Given the description of an element on the screen output the (x, y) to click on. 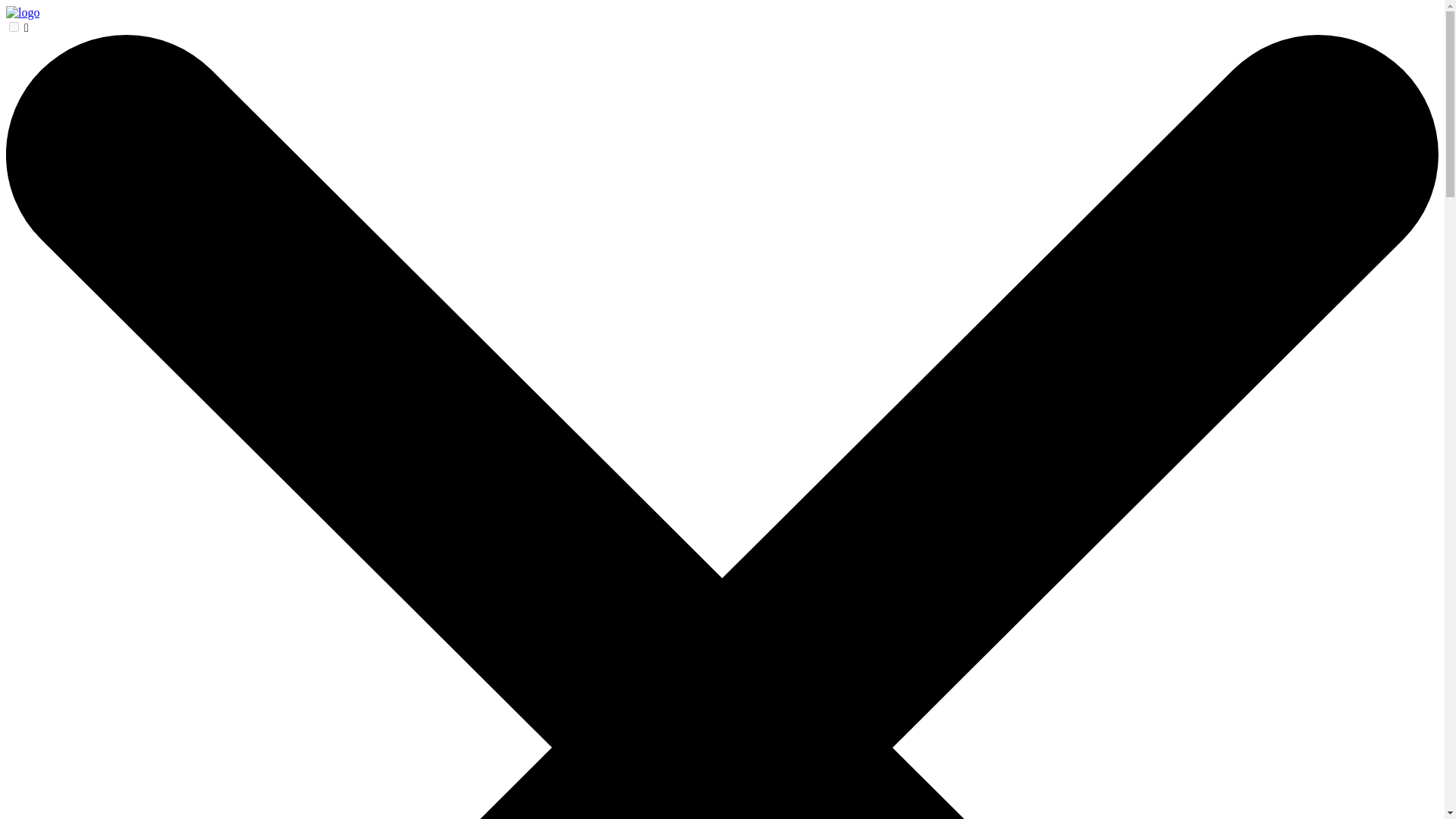
on (13, 26)
